Given the description of an element on the screen output the (x, y) to click on. 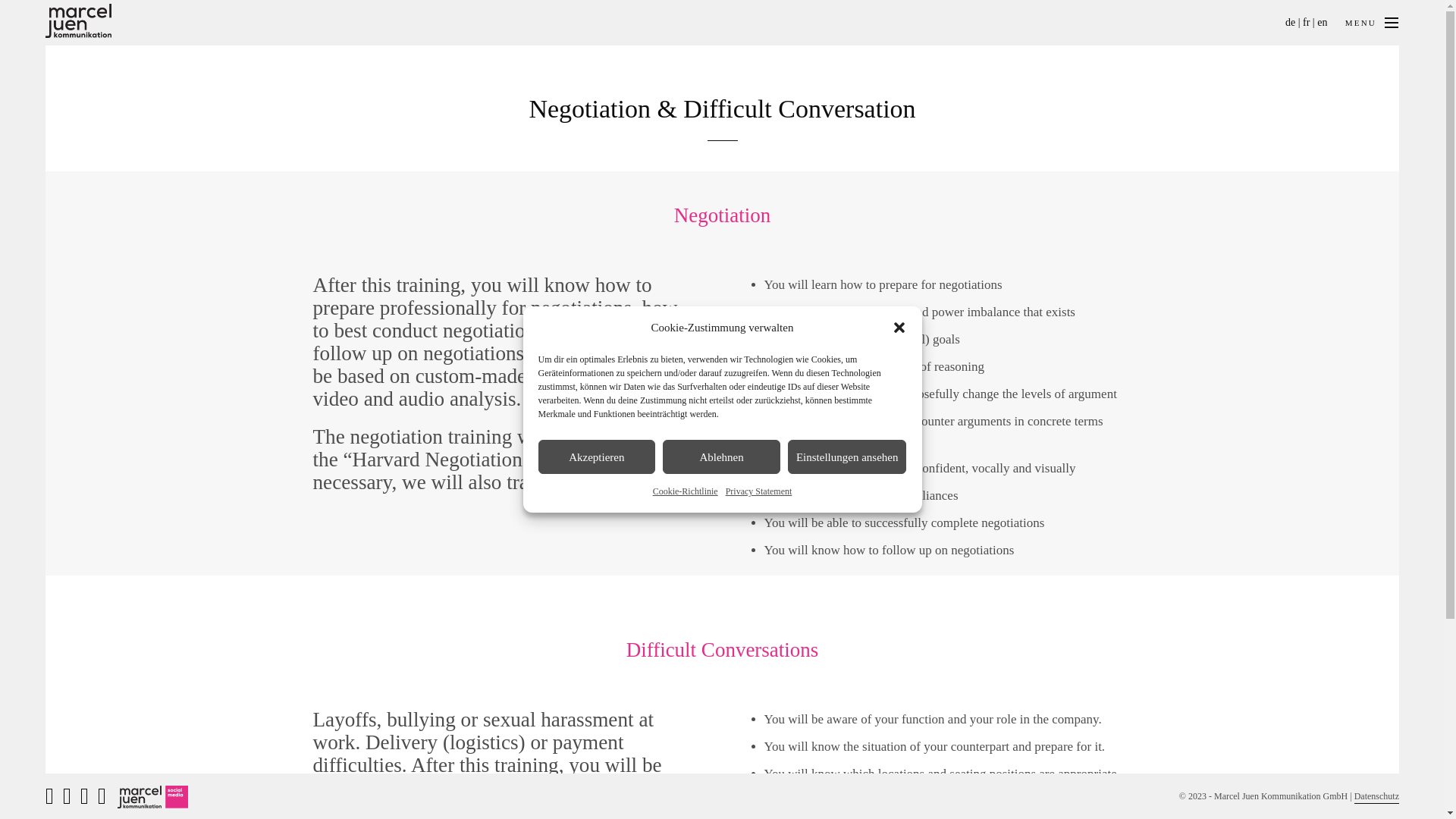
marcel juen kommunikation socialmedia (152, 796)
Akzeptieren (597, 456)
Einstellungen ansehen (847, 456)
Privacy Statement (758, 491)
MENU (1391, 22)
Cookie-Richtlinie (684, 491)
Ablehnen (721, 456)
